Given the description of an element on the screen output the (x, y) to click on. 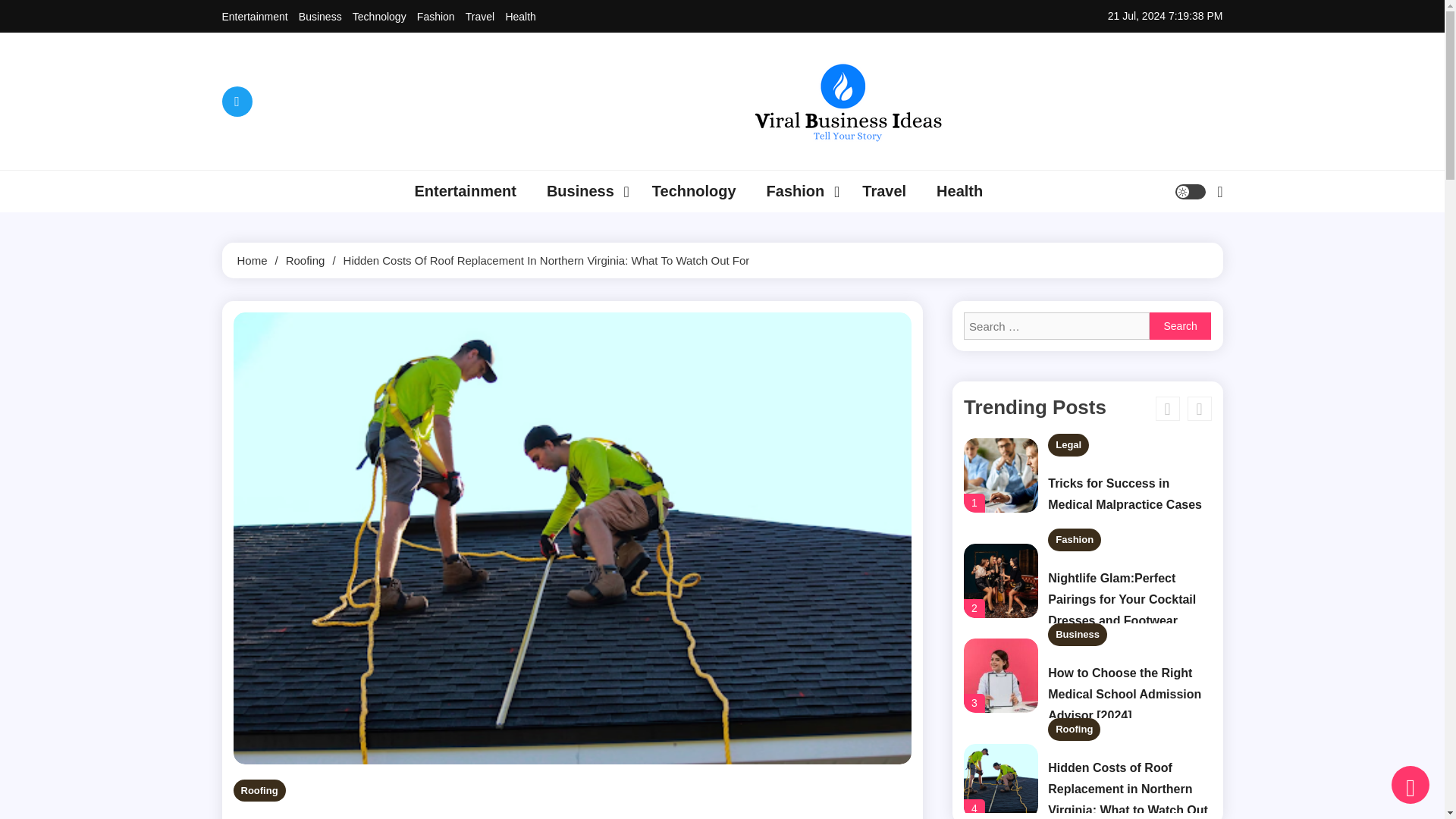
Health (520, 16)
site mode button (1189, 191)
Business (584, 191)
Search (1180, 325)
Viral Business Ideas (707, 171)
Search (1180, 325)
Travel (480, 16)
Search (1180, 249)
Health (959, 191)
Search (1180, 325)
Fashion (799, 191)
Technology (694, 191)
Entertainment (253, 16)
Fashion (435, 16)
Entertainment (464, 191)
